Given the description of an element on the screen output the (x, y) to click on. 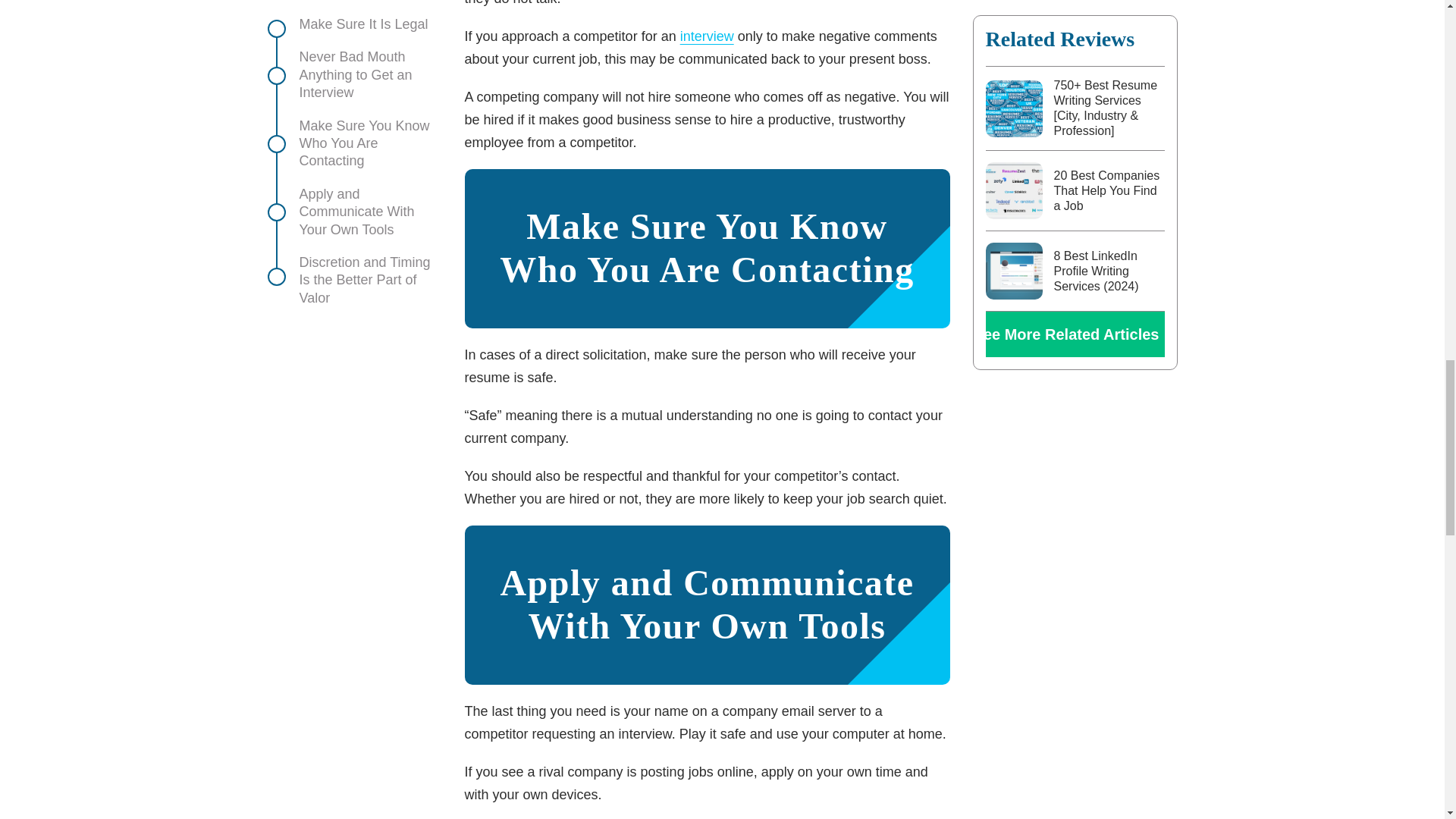
interview (706, 36)
